Given the description of an element on the screen output the (x, y) to click on. 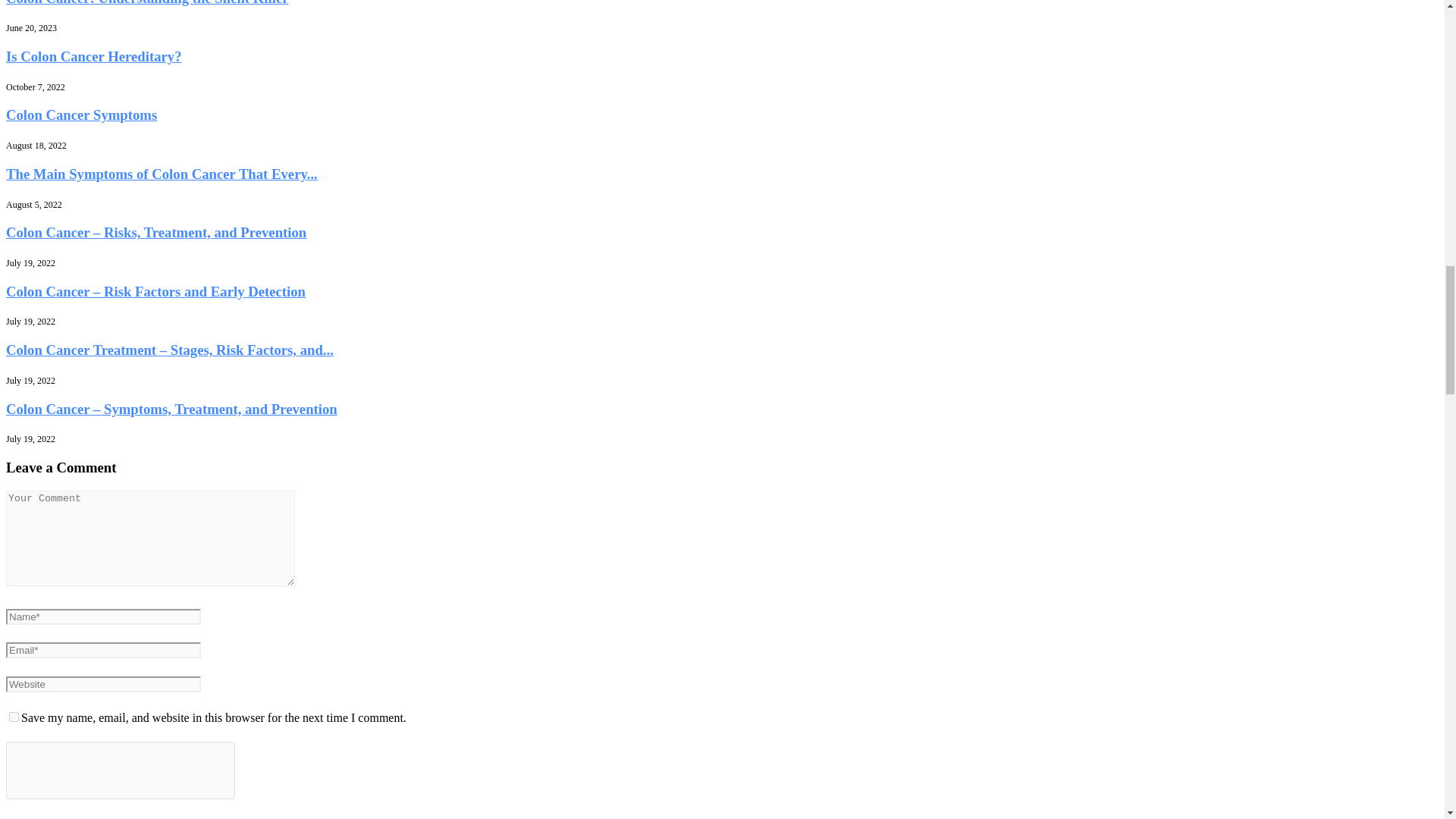
The Main Symptoms of Colon Cancer That Every... (161, 173)
Colon Cancer Symptoms (81, 114)
Colon Cancer: Understanding the Silent Killer (146, 2)
Is Colon Cancer Hereditary? (93, 56)
yes (13, 716)
